Given the description of an element on the screen output the (x, y) to click on. 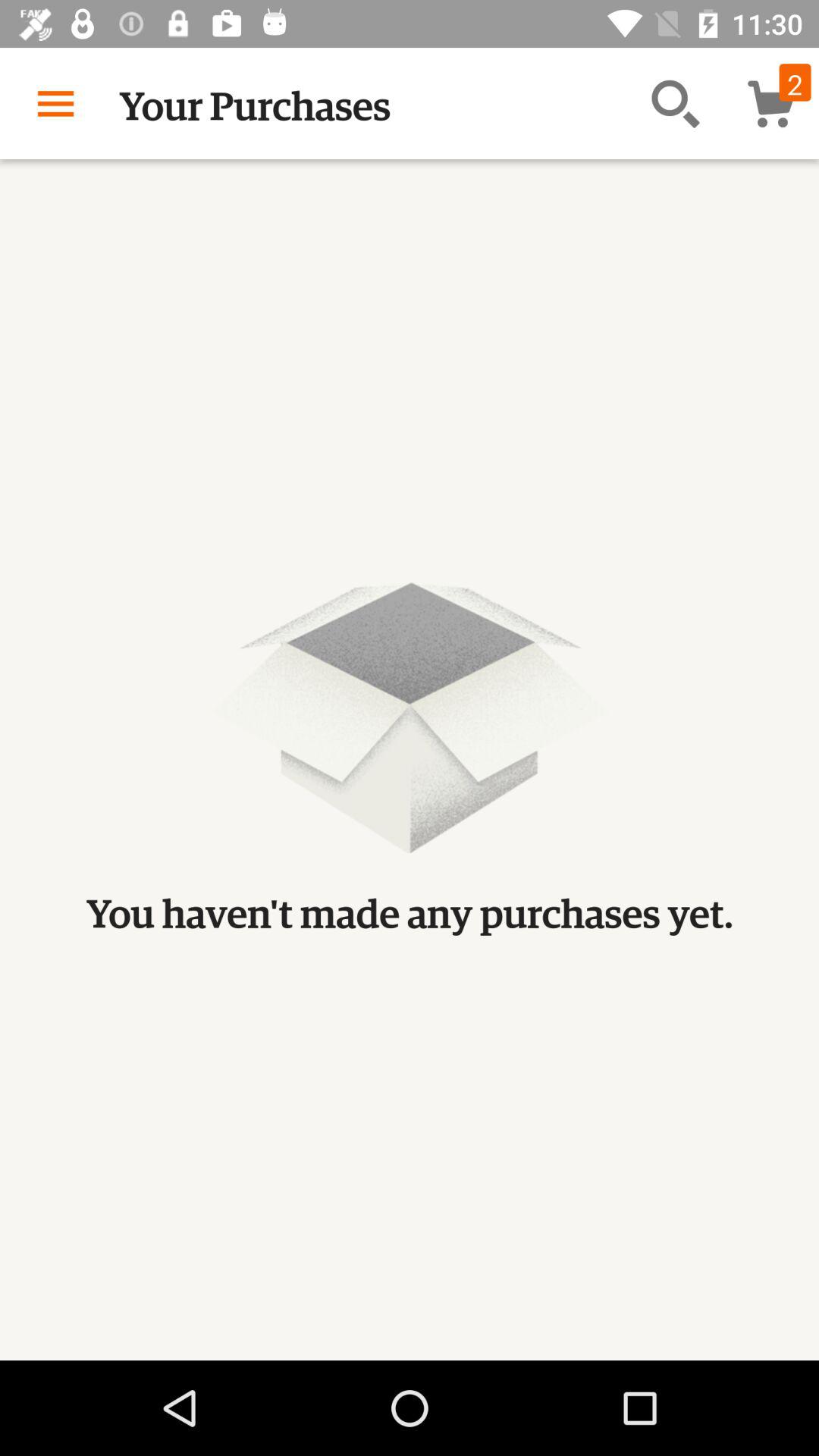
launch item next to the your purchases (55, 103)
